Given the description of an element on the screen output the (x, y) to click on. 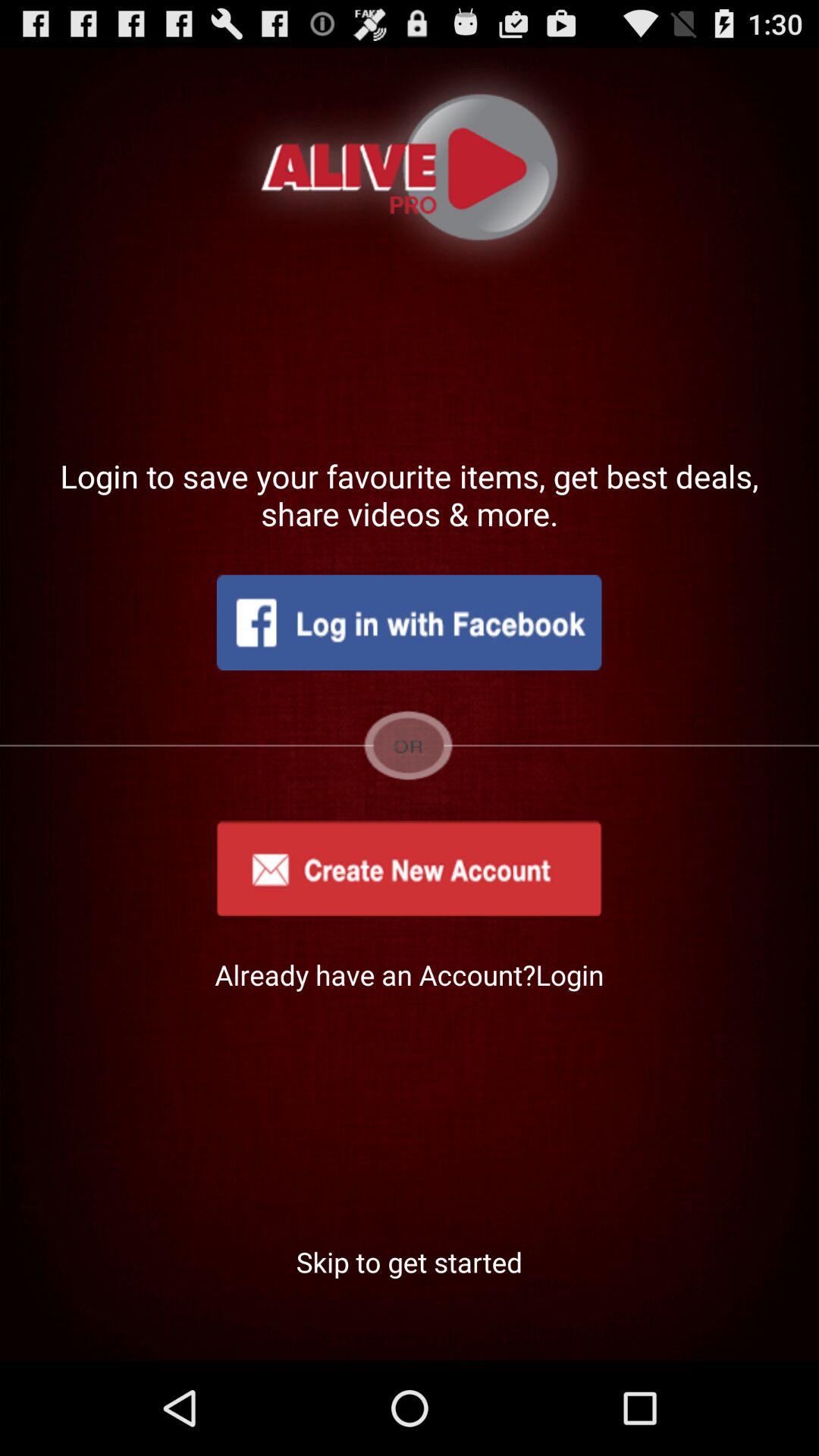
login to app using facebook (408, 622)
